Given the description of an element on the screen output the (x, y) to click on. 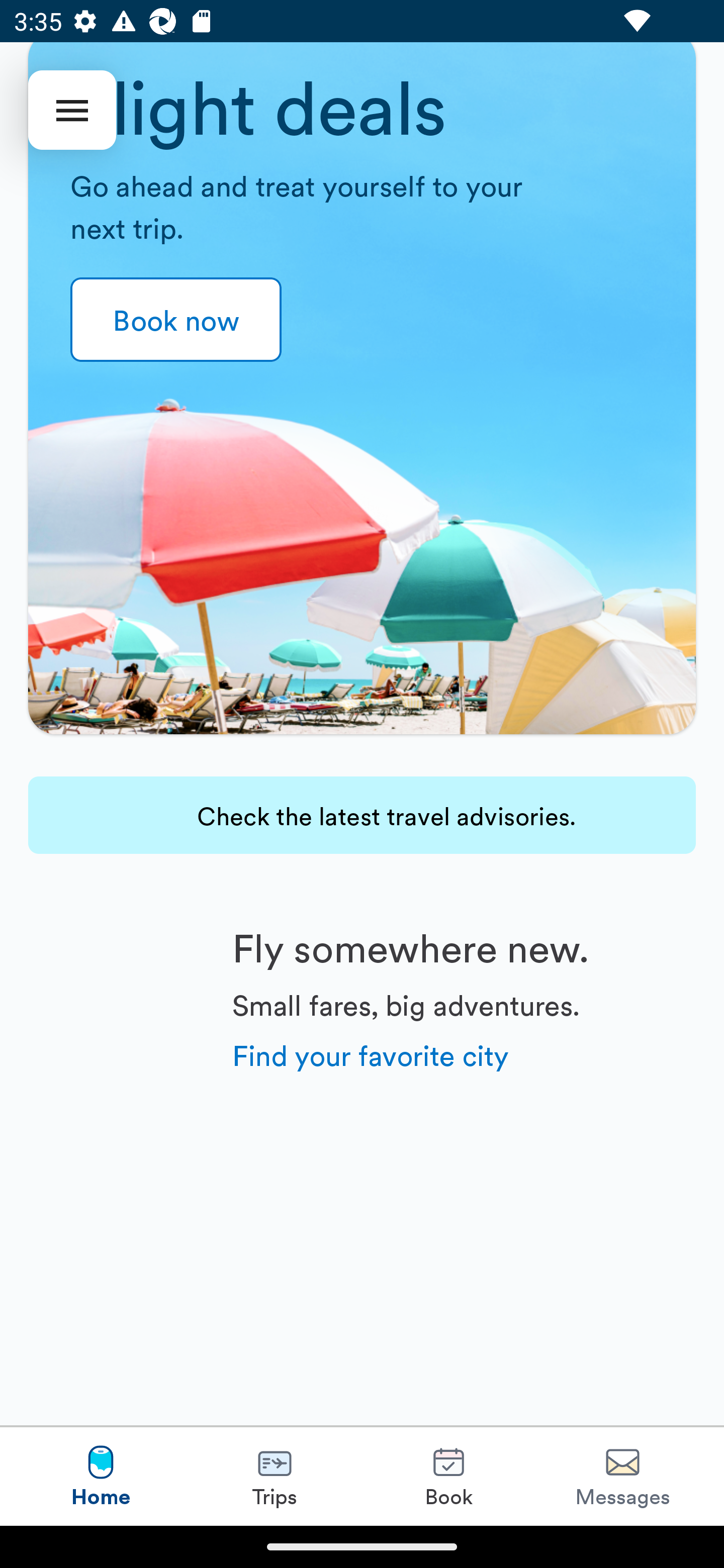
Book now (175, 319)
Check the latest travel advisories. (361, 815)
Find your favorite city (370, 1054)
Home (100, 1475)
Trips (275, 1475)
Book (448, 1475)
Messages (622, 1475)
